Given the description of an element on the screen output the (x, y) to click on. 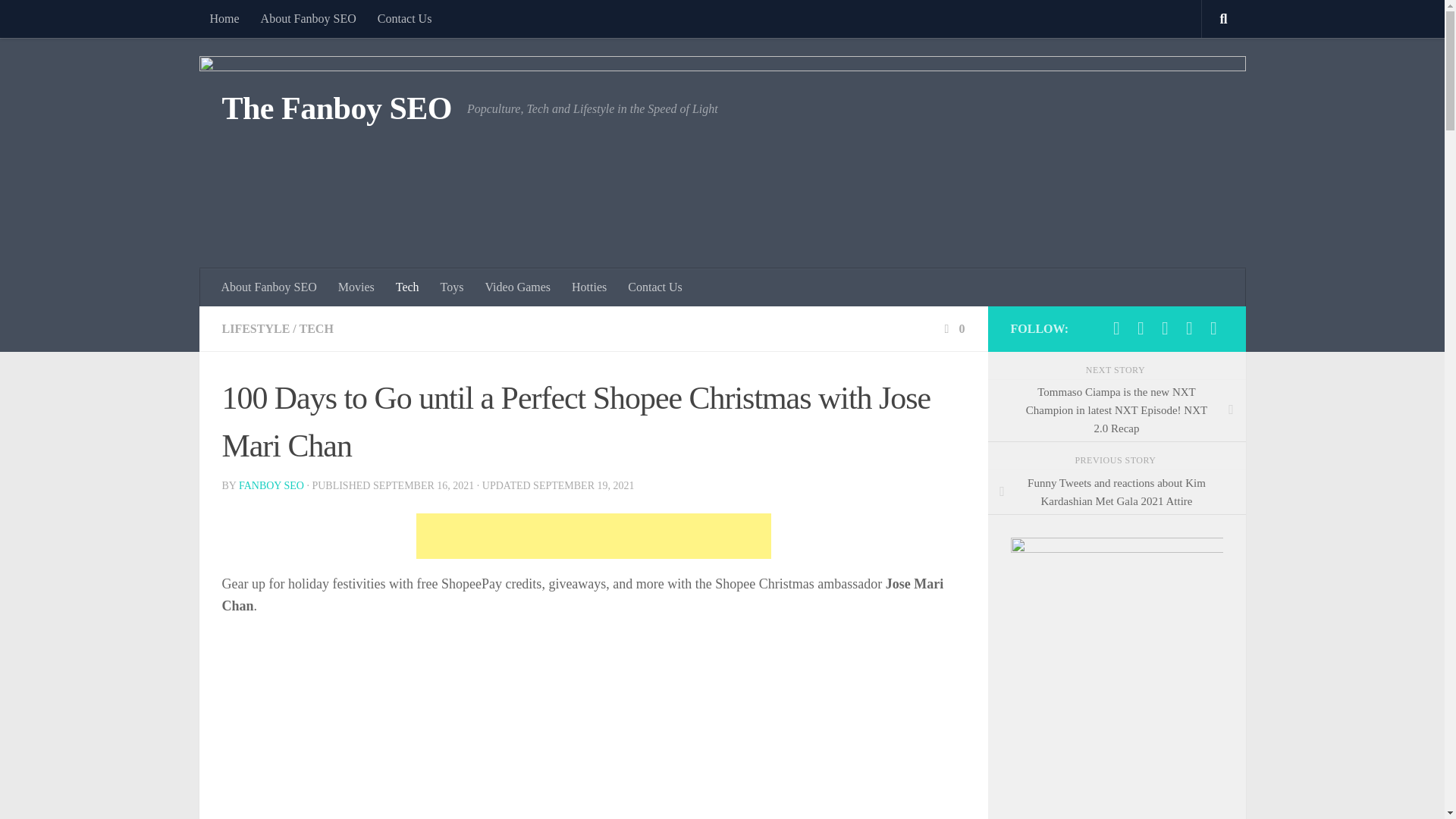
FANBOY SEO (271, 485)
Follow us on Twitch (1188, 328)
Home (223, 18)
Follow us on Facebook (1115, 328)
LIFESTYLE (255, 328)
0 (951, 328)
Video Games (517, 287)
Follow us on Instagram (1213, 328)
Contact Us (655, 287)
TECH (315, 328)
Toys (451, 287)
Hotties (588, 287)
Contact Us (404, 18)
Follow us on Youtube (1164, 328)
About Fanboy SEO (269, 287)
